Given the description of an element on the screen output the (x, y) to click on. 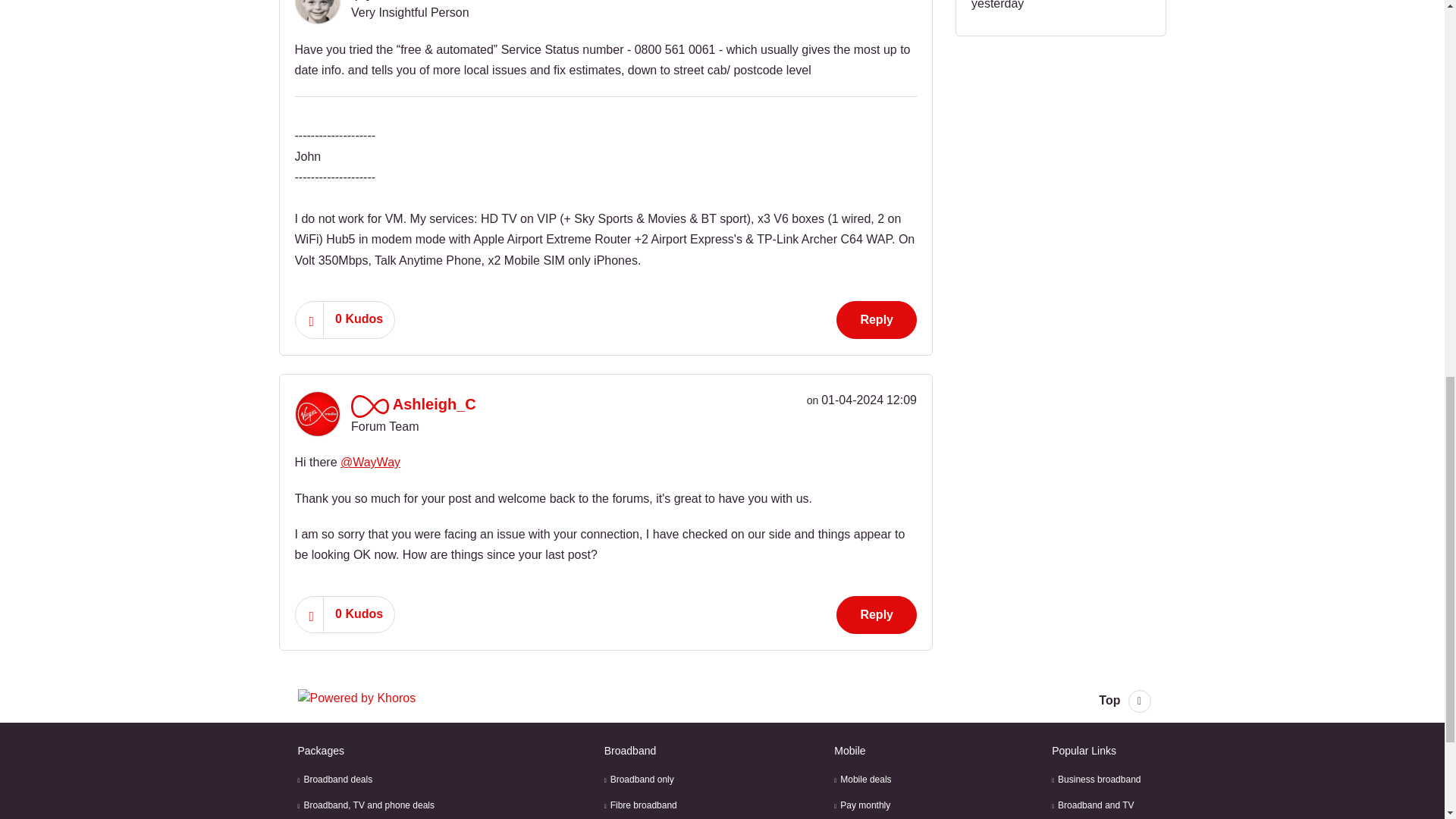
jbrennand (316, 12)
The total number of kudos this post has received. (358, 319)
